Given the description of an element on the screen output the (x, y) to click on. 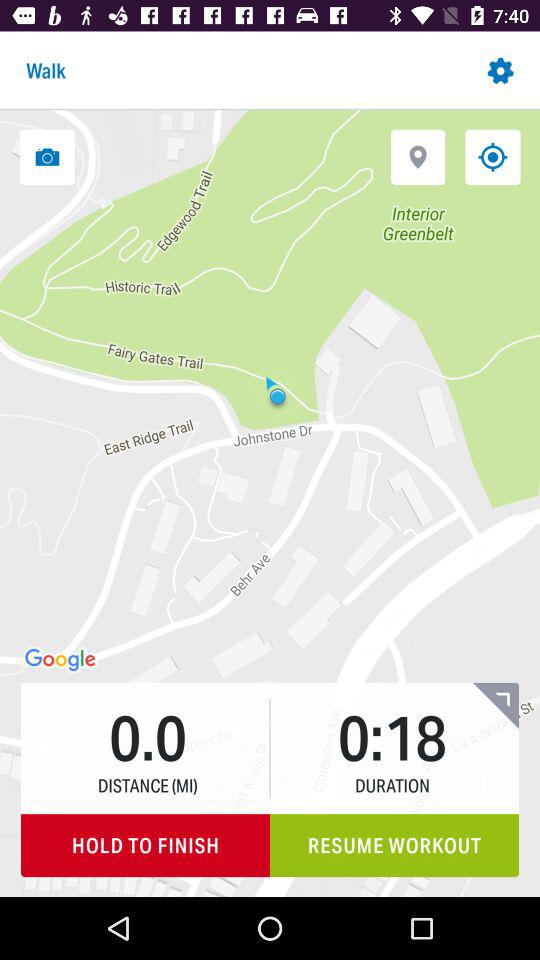
capture photo (47, 156)
